Given the description of an element on the screen output the (x, y) to click on. 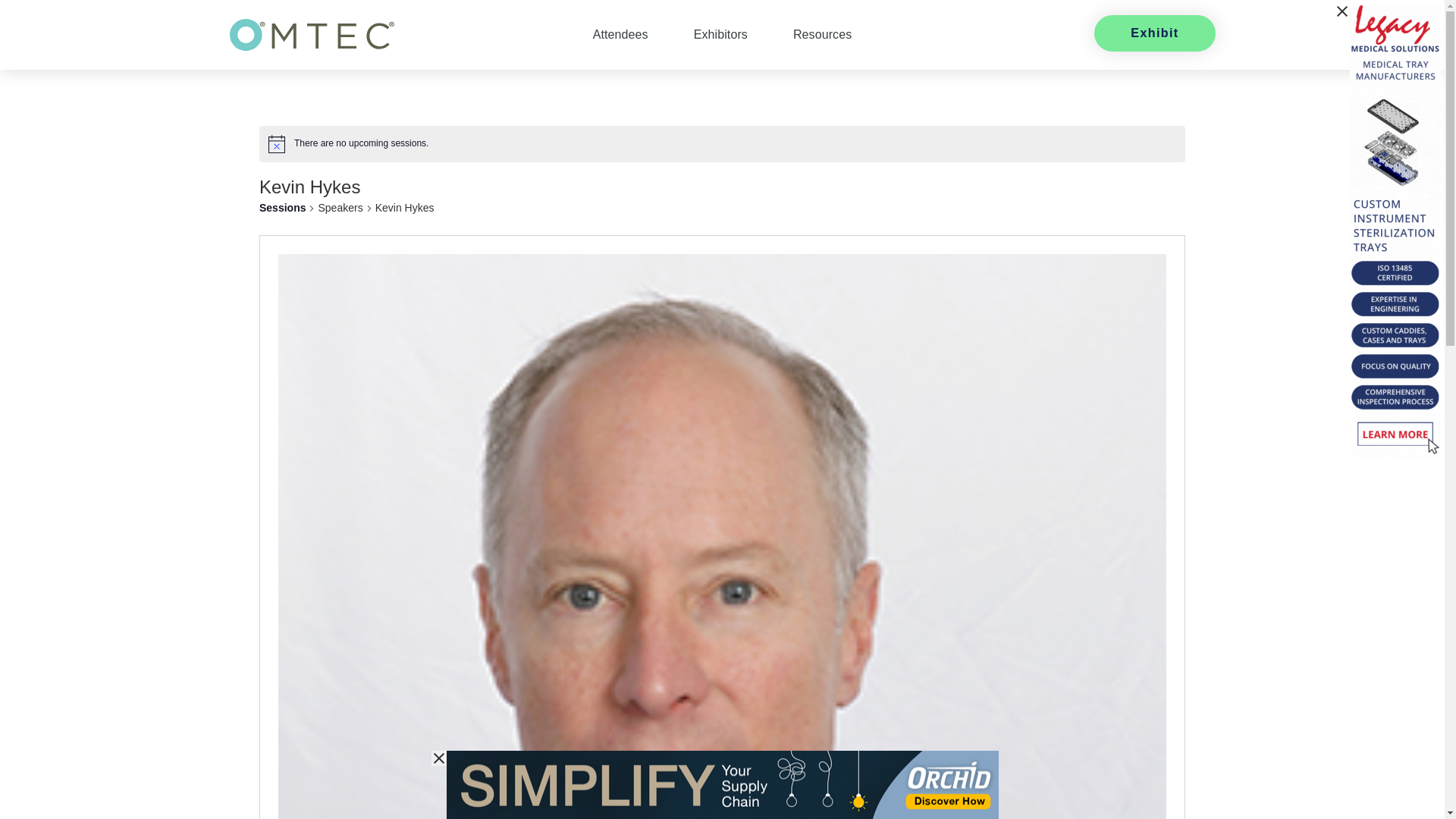
Exhibitors (720, 34)
Close (1342, 11)
Attendees (620, 34)
Resources (822, 34)
3rd party ad content (275, 785)
